Given the description of an element on the screen output the (x, y) to click on. 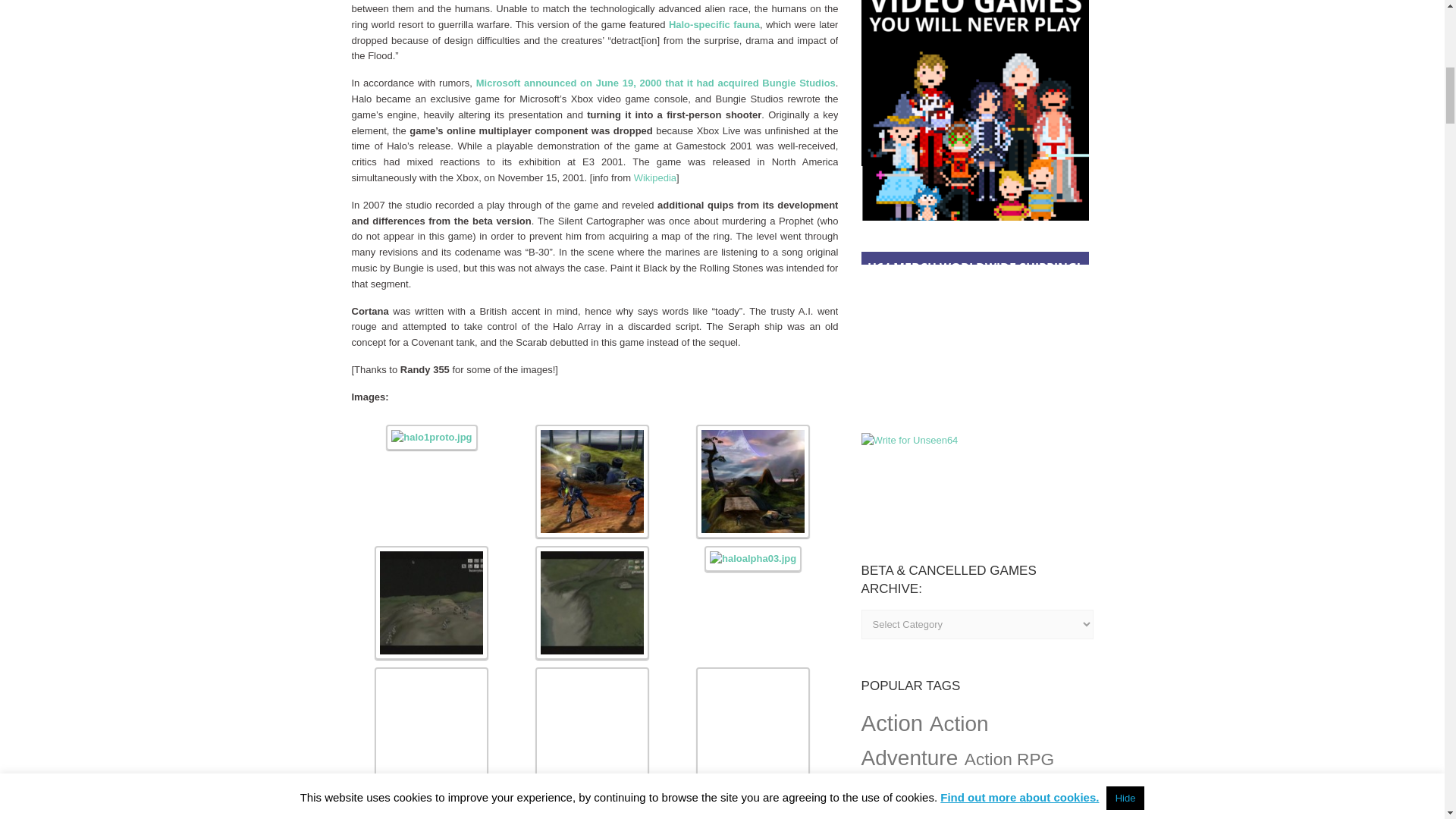
halo1proto02.jpg (592, 431)
Halo-specific fauna (714, 24)
halo1proto03.jpg (752, 431)
halo1proto.jpg (431, 431)
Wikipedia (655, 177)
